Given the description of an element on the screen output the (x, y) to click on. 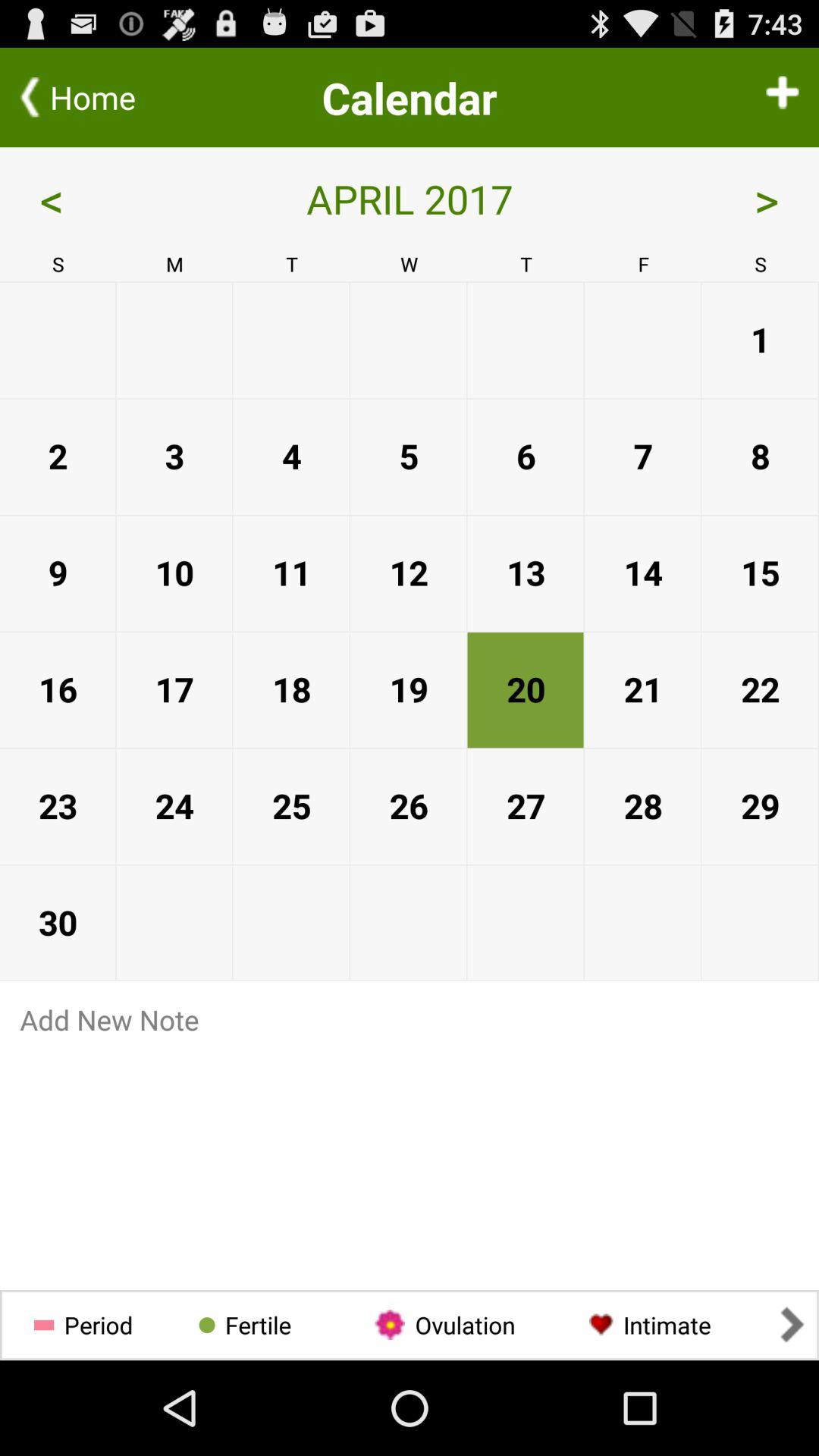
select app to the right of the < app (409, 198)
